Given the description of an element on the screen output the (x, y) to click on. 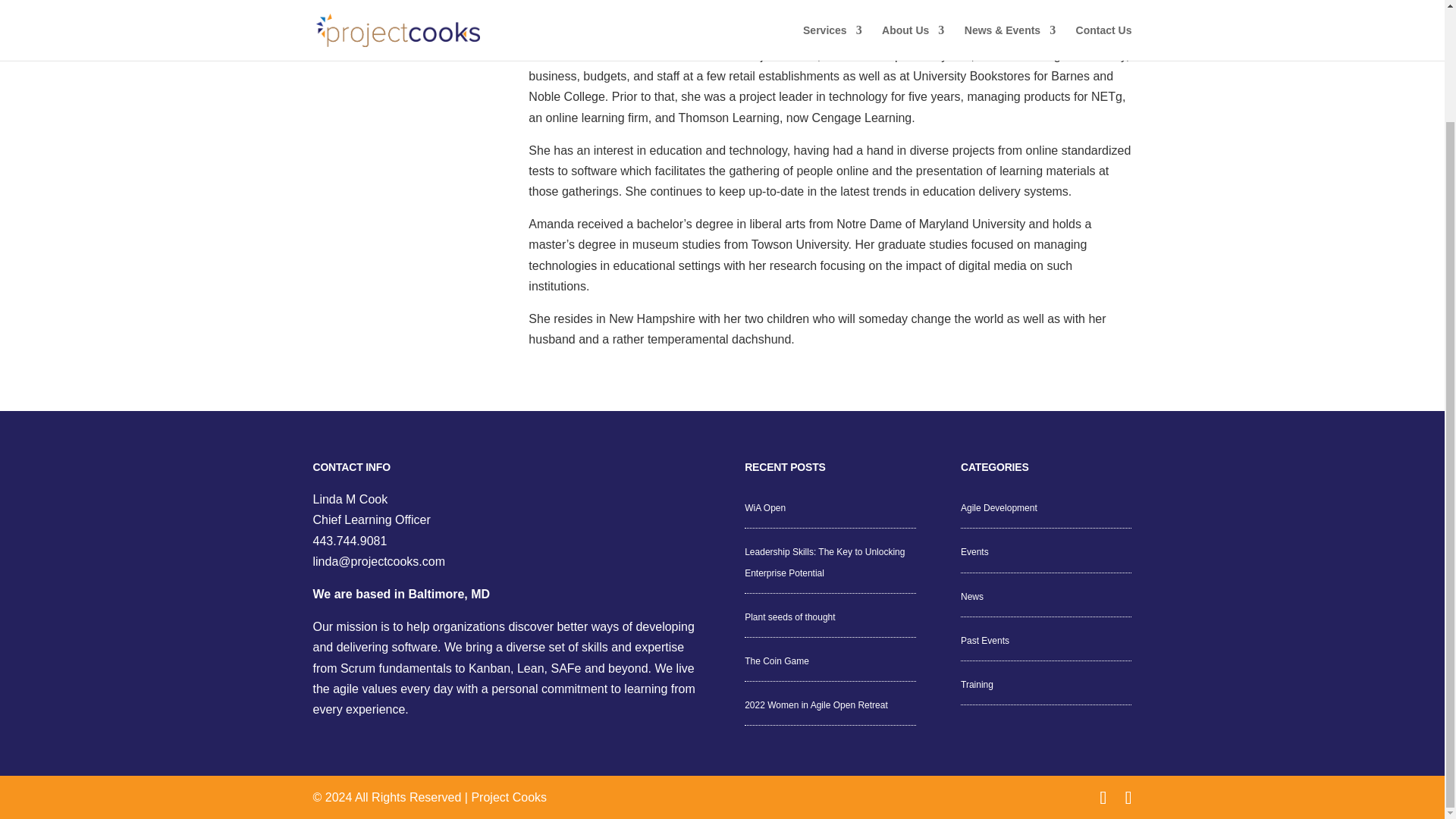
Leadership Skills: The Key to Unlocking Enterprise Potential (824, 562)
Plant seeds of thought (789, 616)
Training (976, 684)
Agile Development (998, 507)
Events (974, 552)
WiA Open (765, 507)
2022 Women in Agile Open Retreat (816, 705)
News (972, 596)
Past Events (984, 640)
The Coin Game (776, 661)
